Given the description of an element on the screen output the (x, y) to click on. 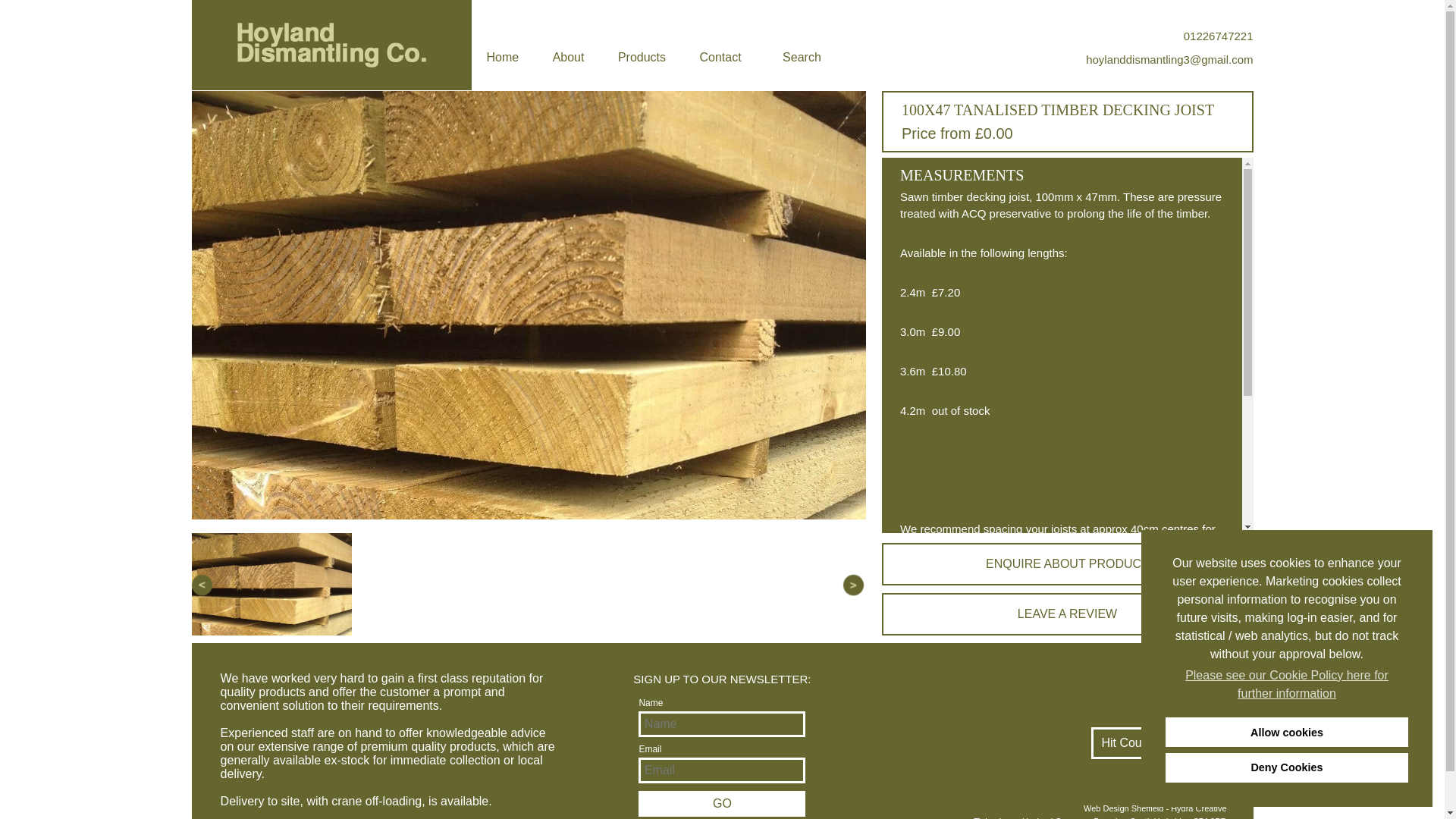
Step String (929, 679)
GO (722, 803)
About (569, 56)
Joist Hangers (936, 727)
Universal Hand Rail (953, 716)
150x47 Tanalised Timber Decking Joist (1004, 655)
01226747221 (1169, 35)
100x47 Tanalised Timber Decking Joist (1004, 667)
Search (802, 56)
Home (502, 56)
LEAVE A REVIEW (1066, 613)
Web Design Sheffield - Hydra Creative (1049, 808)
Decking Spindle - Stop Chamfered (992, 618)
Patrice Newel Post (951, 691)
Deny Cookies (1286, 767)
